Given the description of an element on the screen output the (x, y) to click on. 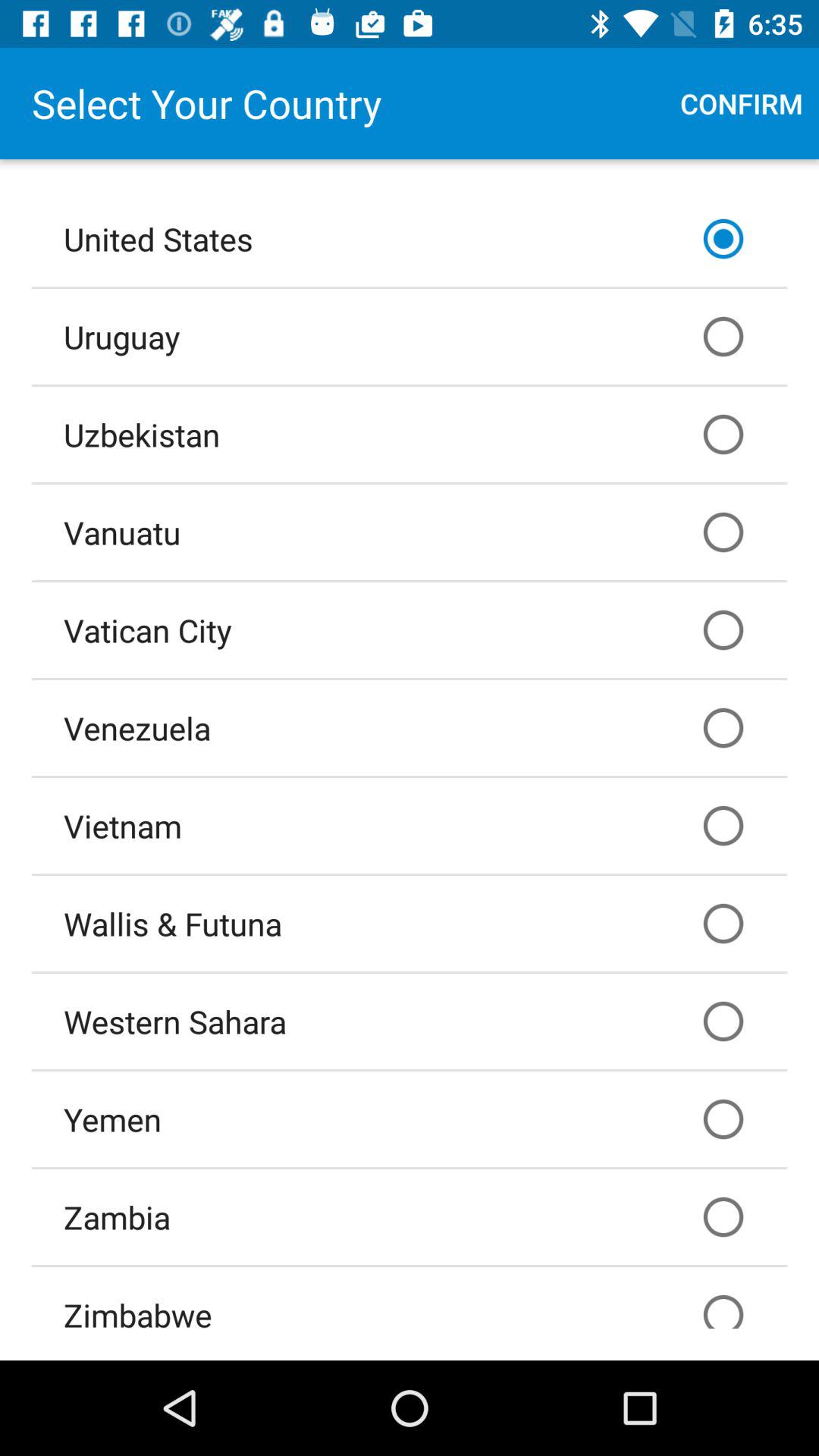
open the confirm (741, 103)
